Given the description of an element on the screen output the (x, y) to click on. 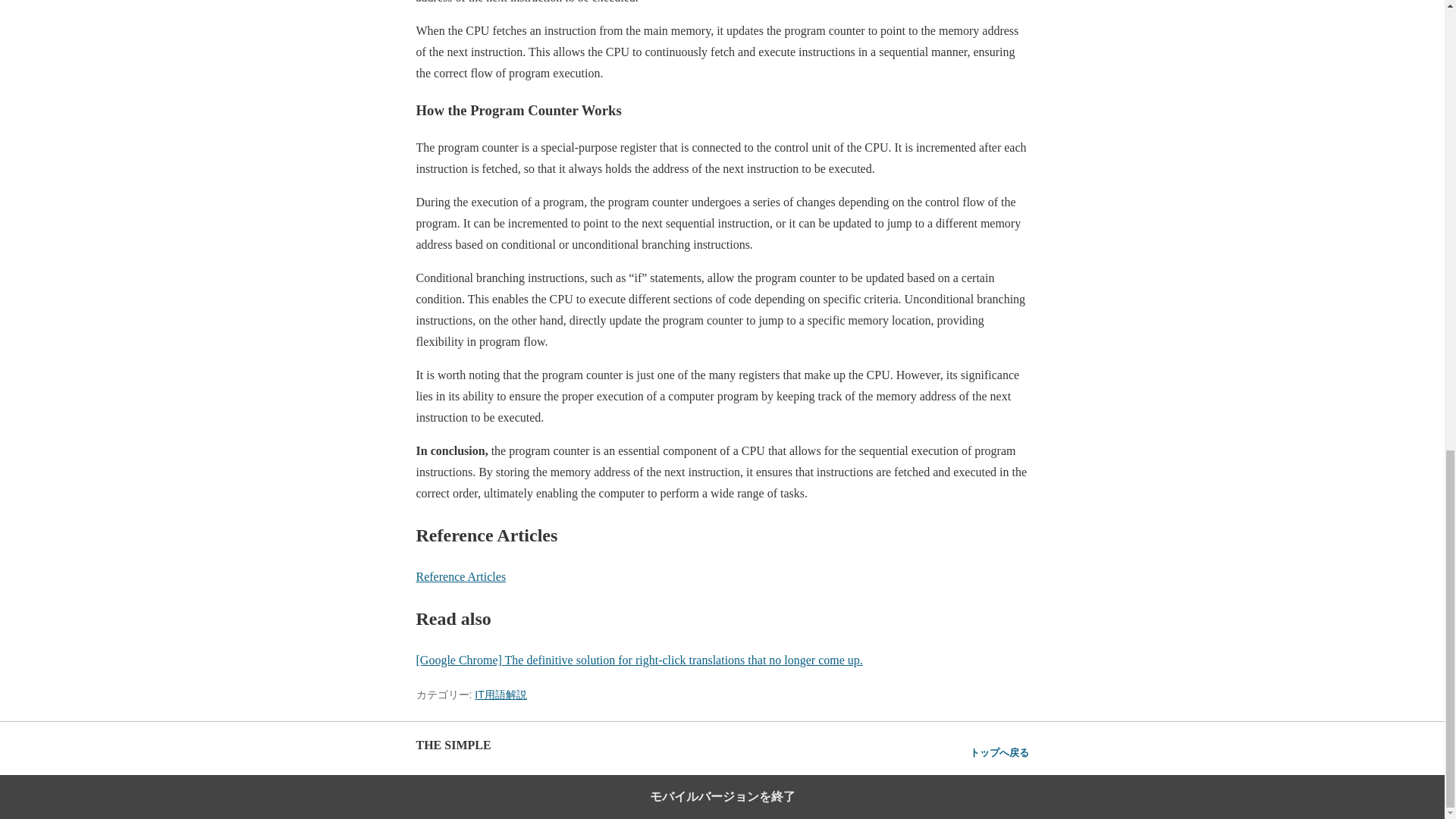
Reference Articles (459, 576)
